Given the description of an element on the screen output the (x, y) to click on. 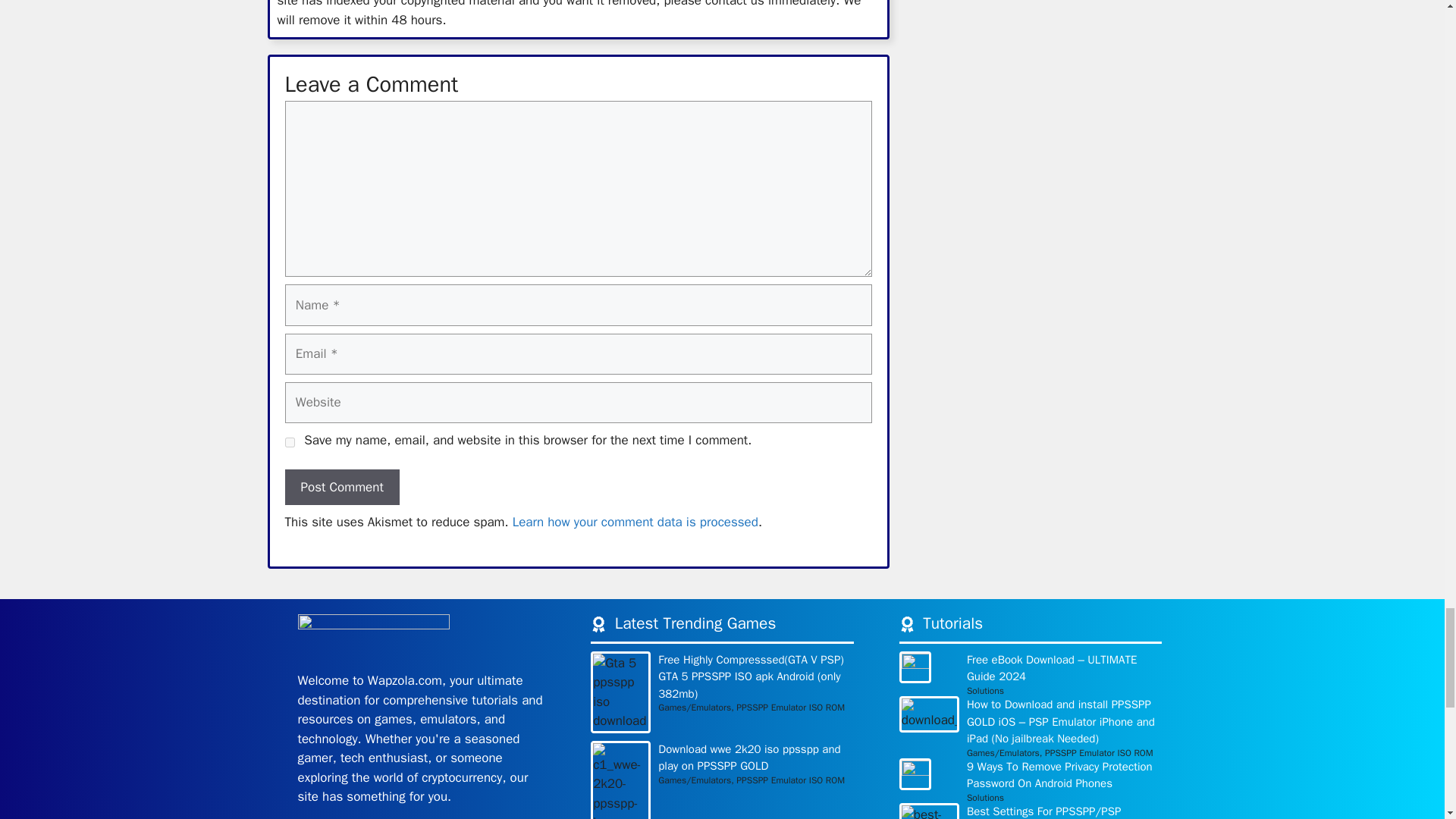
Post Comment (341, 487)
yes (290, 442)
